Given the description of an element on the screen output the (x, y) to click on. 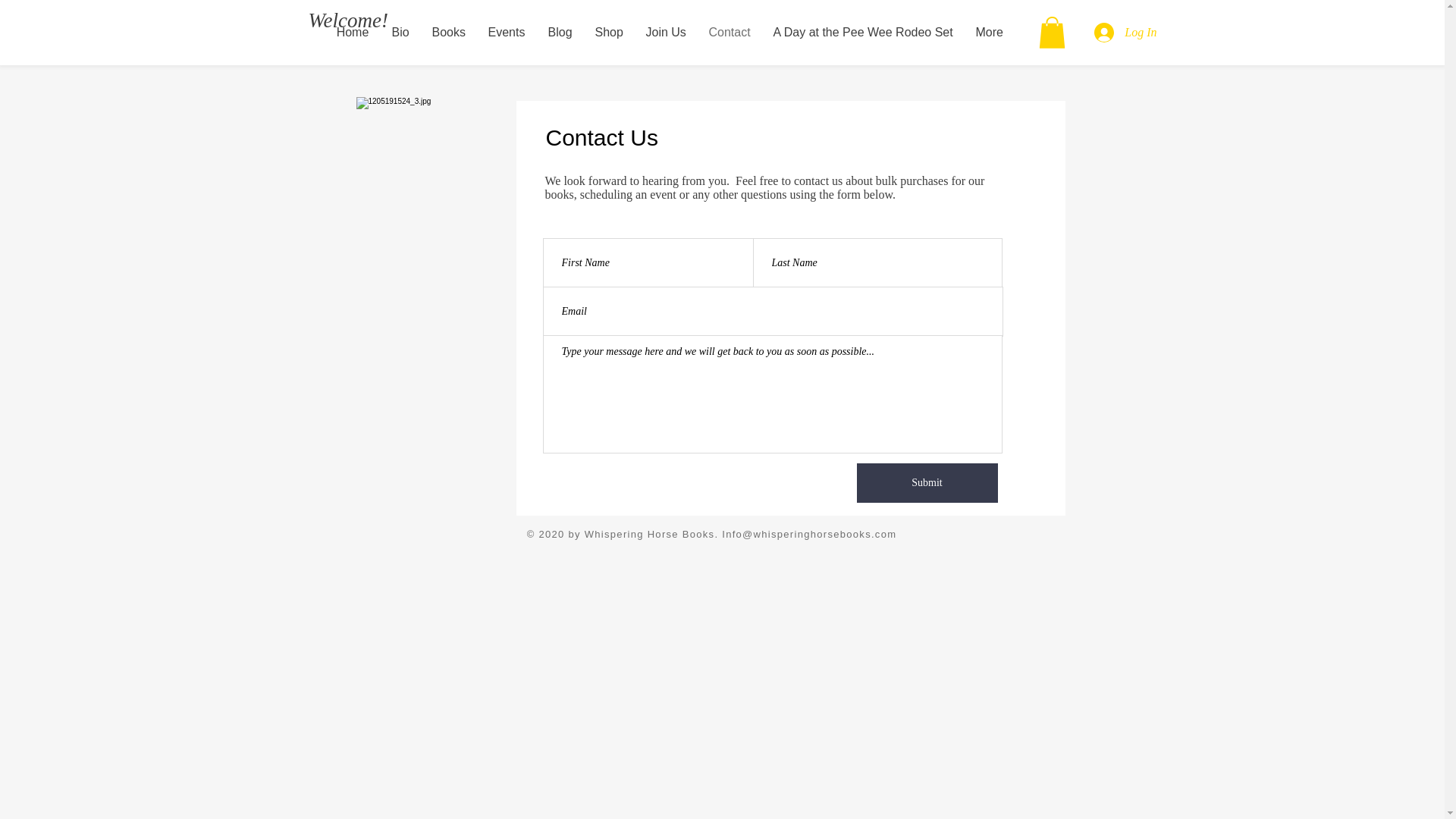
Welcome! (347, 20)
Shop (608, 31)
Bio (400, 31)
Contact (729, 31)
Log In (1125, 32)
Join Us (665, 31)
Home (352, 31)
A Day at the Pee Wee Rodeo Set (862, 31)
Blog (560, 31)
Events (505, 31)
